Given the description of an element on the screen output the (x, y) to click on. 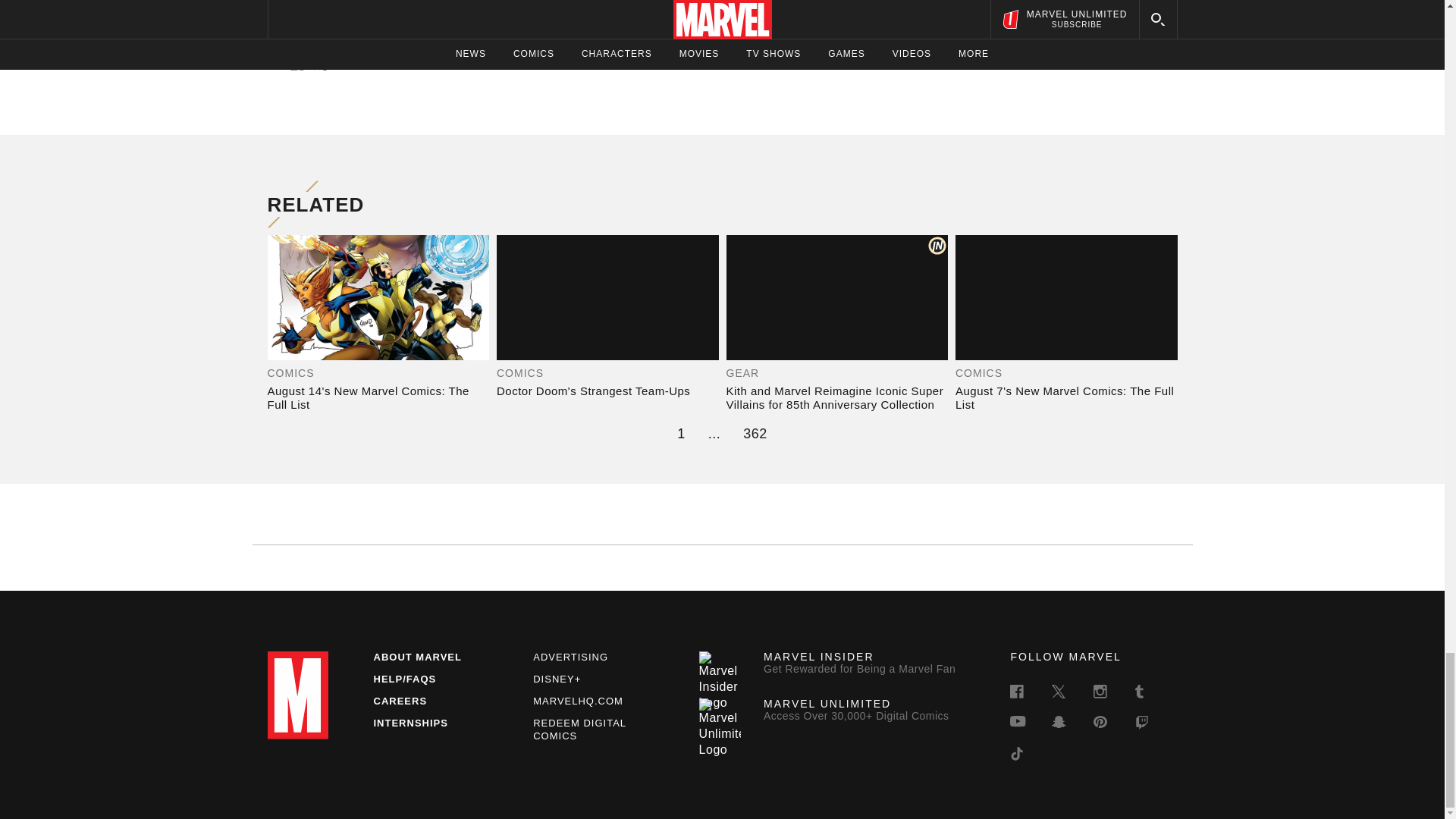
Doctor Doom's Strangest Team-Ups (607, 391)
August 7's New Marvel Comics: The Full List (1066, 397)
August 14's New Marvel Comics: The Full List (377, 397)
